Given the description of an element on the screen output the (x, y) to click on. 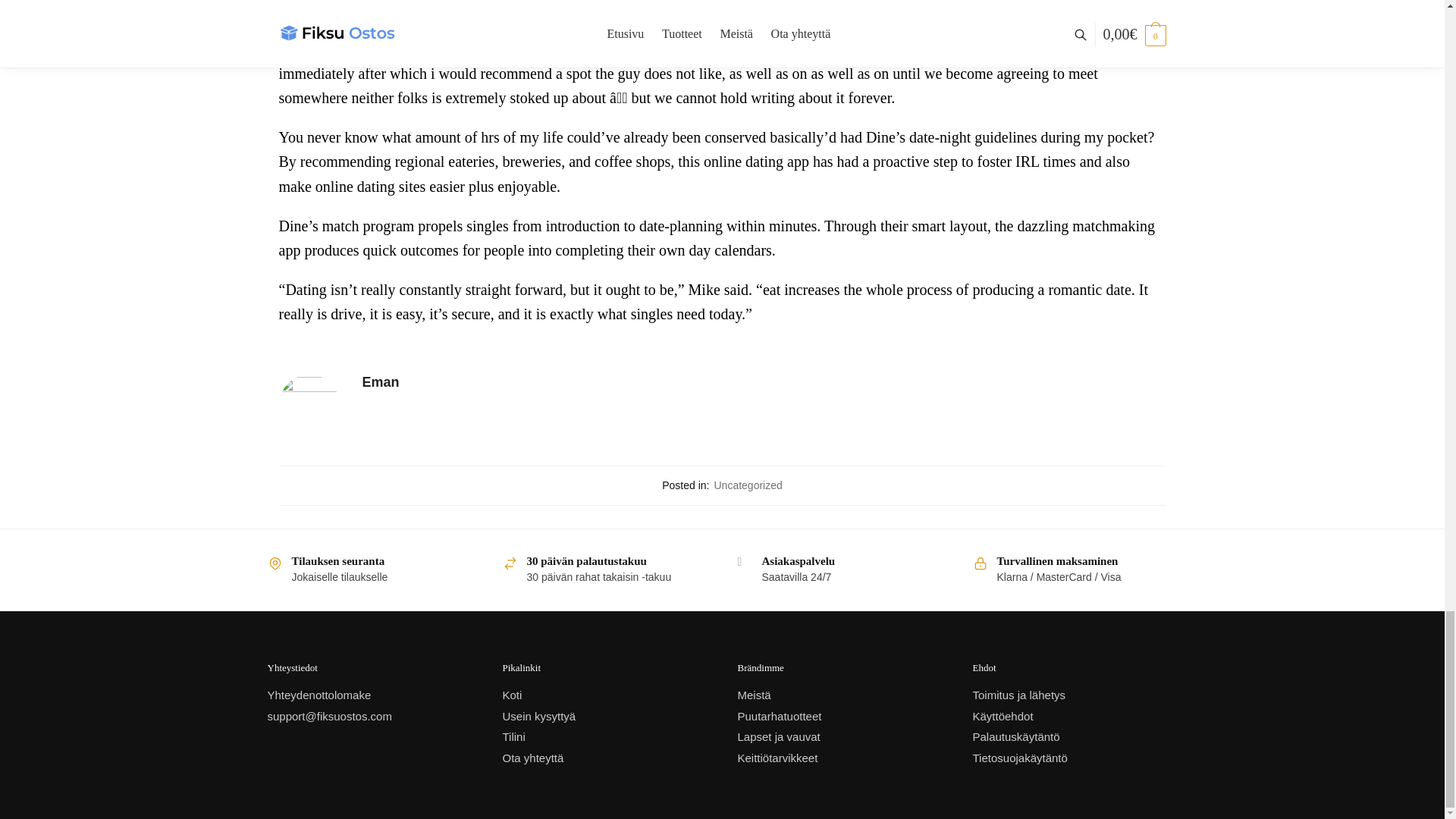
Uncategorized (747, 485)
Yhteydenottolomake (318, 694)
Eman (764, 382)
Tilini (513, 736)
Puutarhatuotteet (778, 716)
Koti (511, 694)
